Given the description of an element on the screen output the (x, y) to click on. 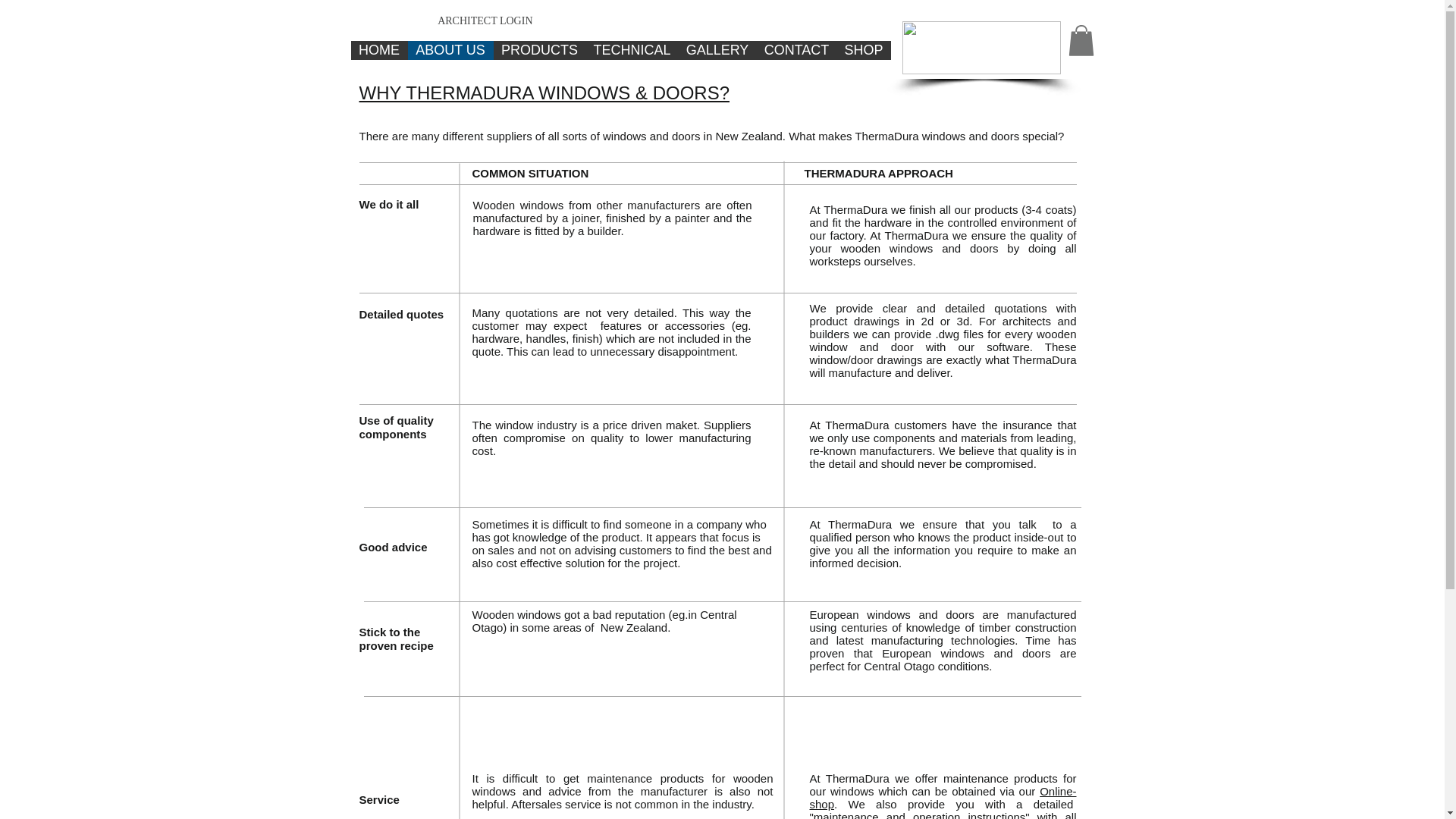
PRODUCTS (539, 49)
ABOUT US (450, 49)
ARCHITECT LOGIN (484, 21)
HOME (378, 49)
TECHNICAL (631, 49)
